Given the description of an element on the screen output the (x, y) to click on. 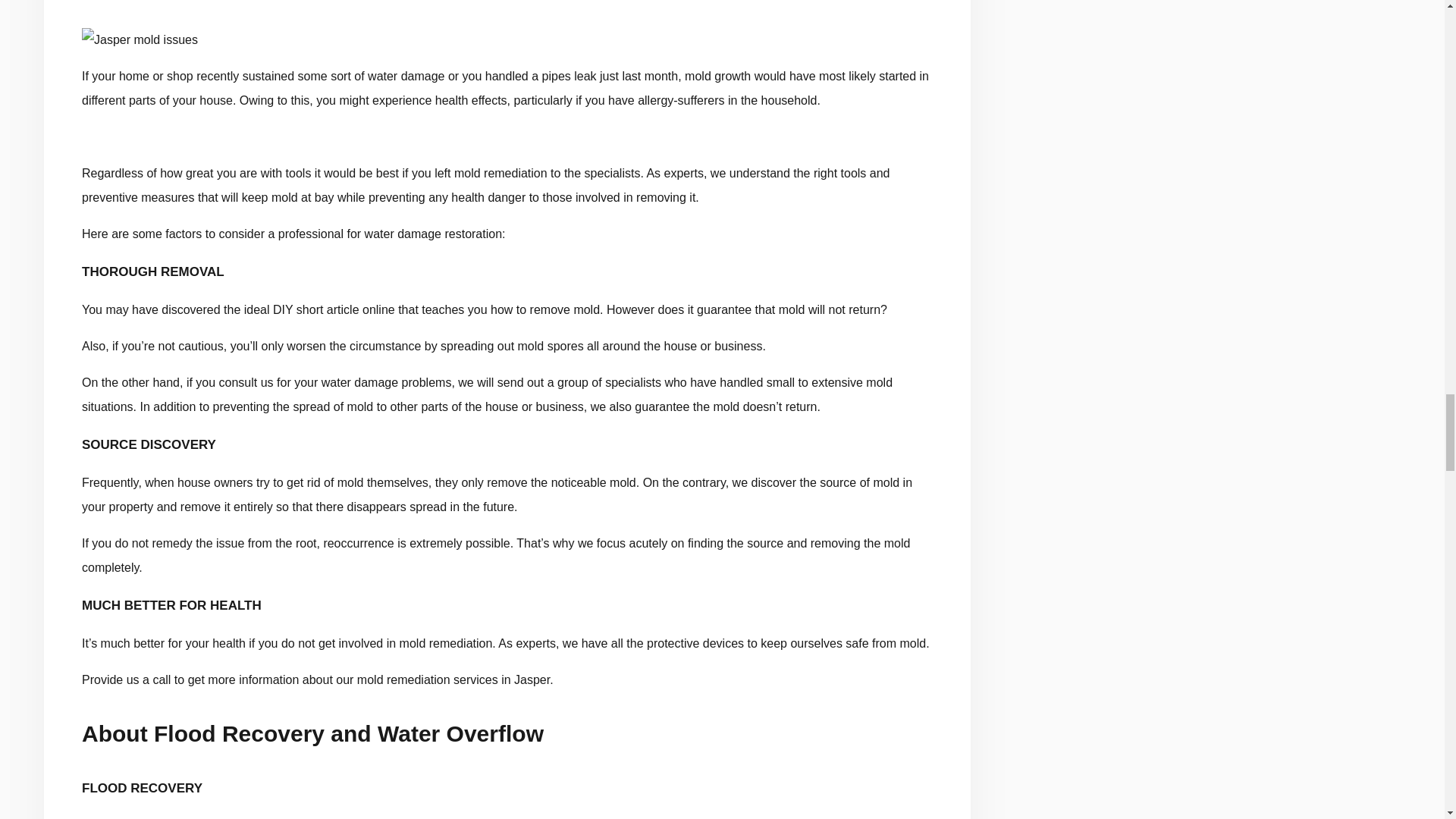
YouTube video player (507, 816)
